Given the description of an element on the screen output the (x, y) to click on. 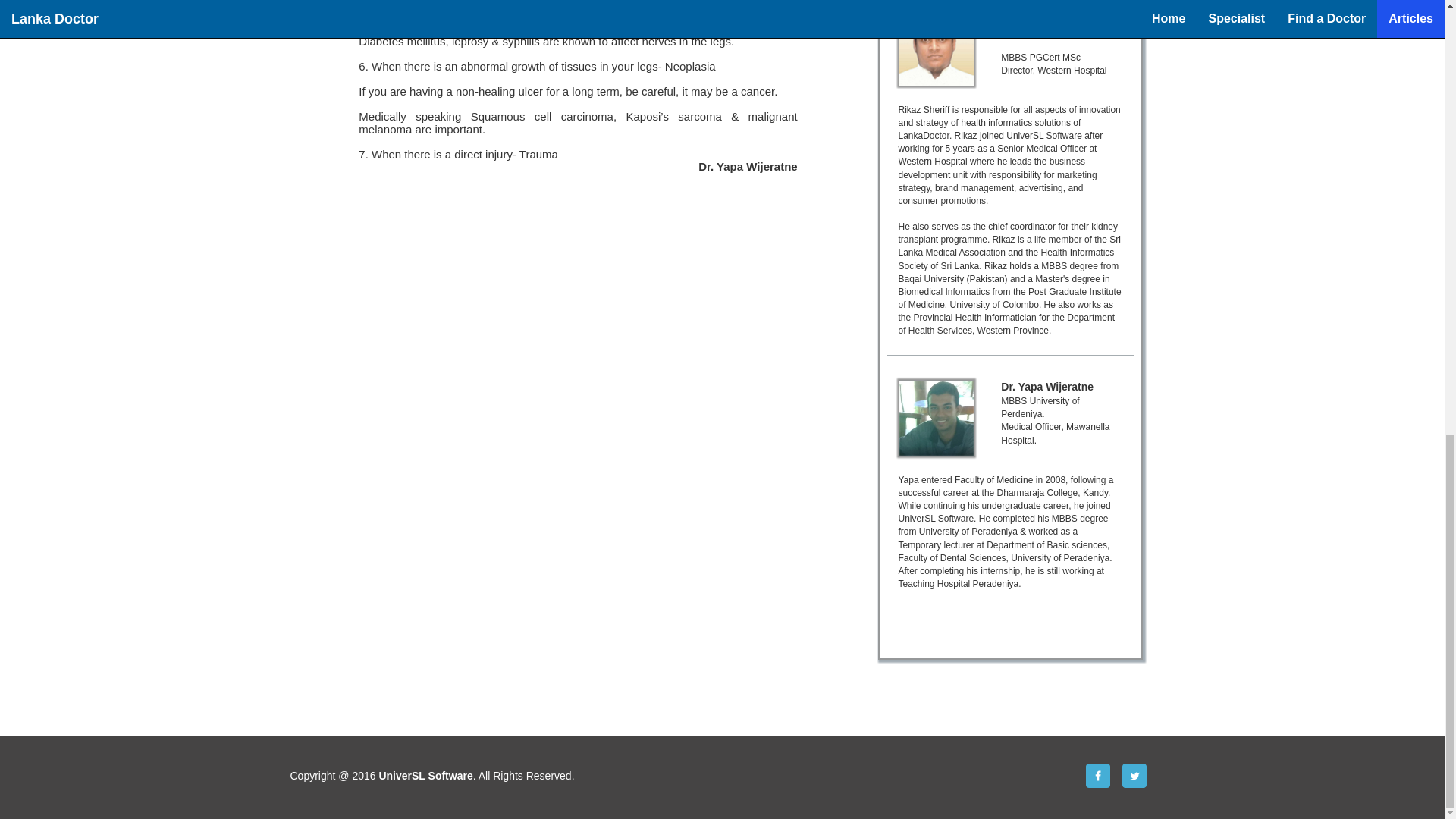
UniverSL Software (424, 775)
